Given the description of an element on the screen output the (x, y) to click on. 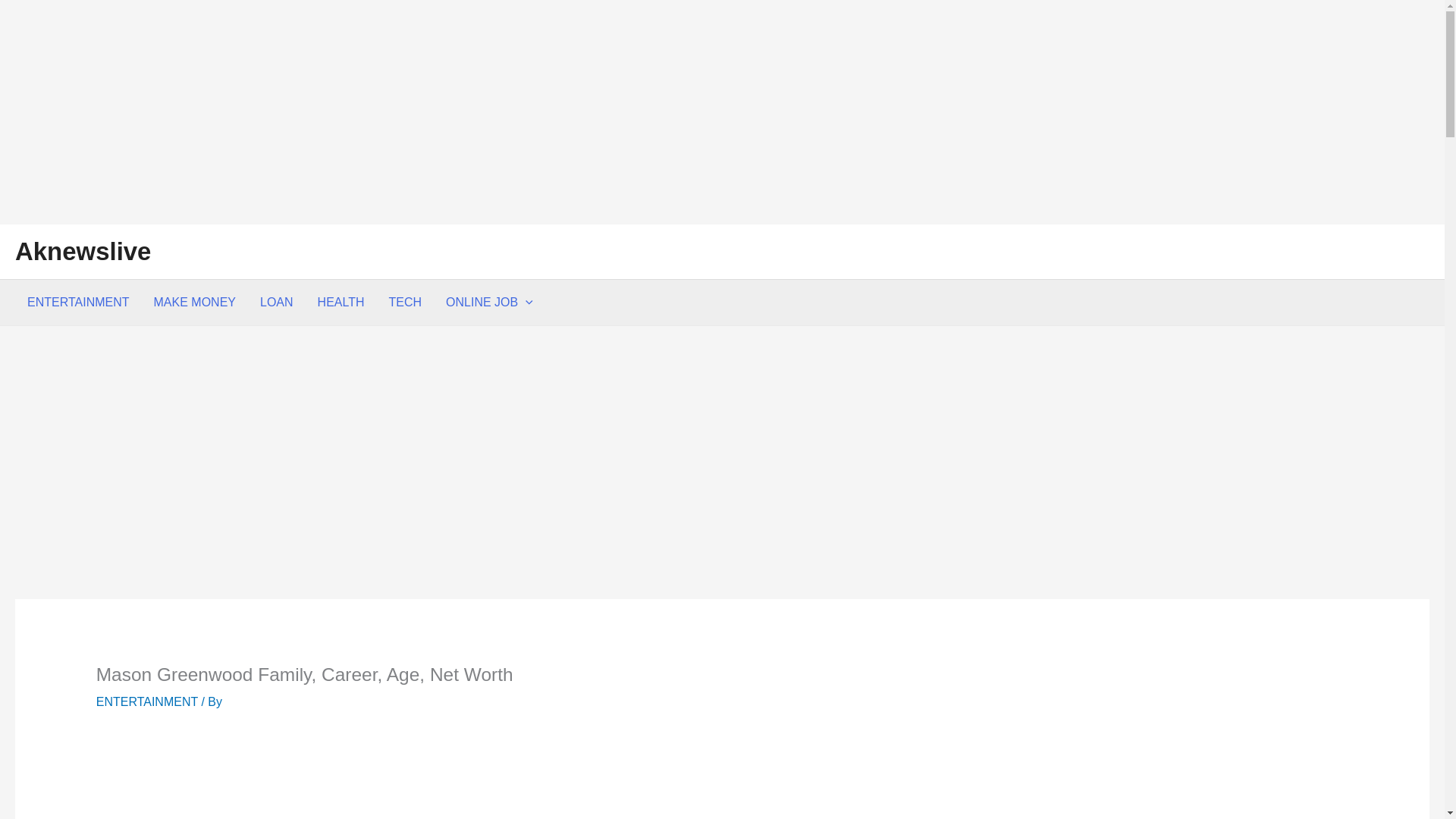
MAKE MONEY (194, 302)
Aknewslive (82, 251)
TECH (405, 302)
HEALTH (341, 302)
LOAN (276, 302)
ENTERTAINMENT (147, 701)
Advertisement (722, 777)
ONLINE JOB (488, 302)
ENTERTAINMENT (77, 302)
